Given the description of an element on the screen output the (x, y) to click on. 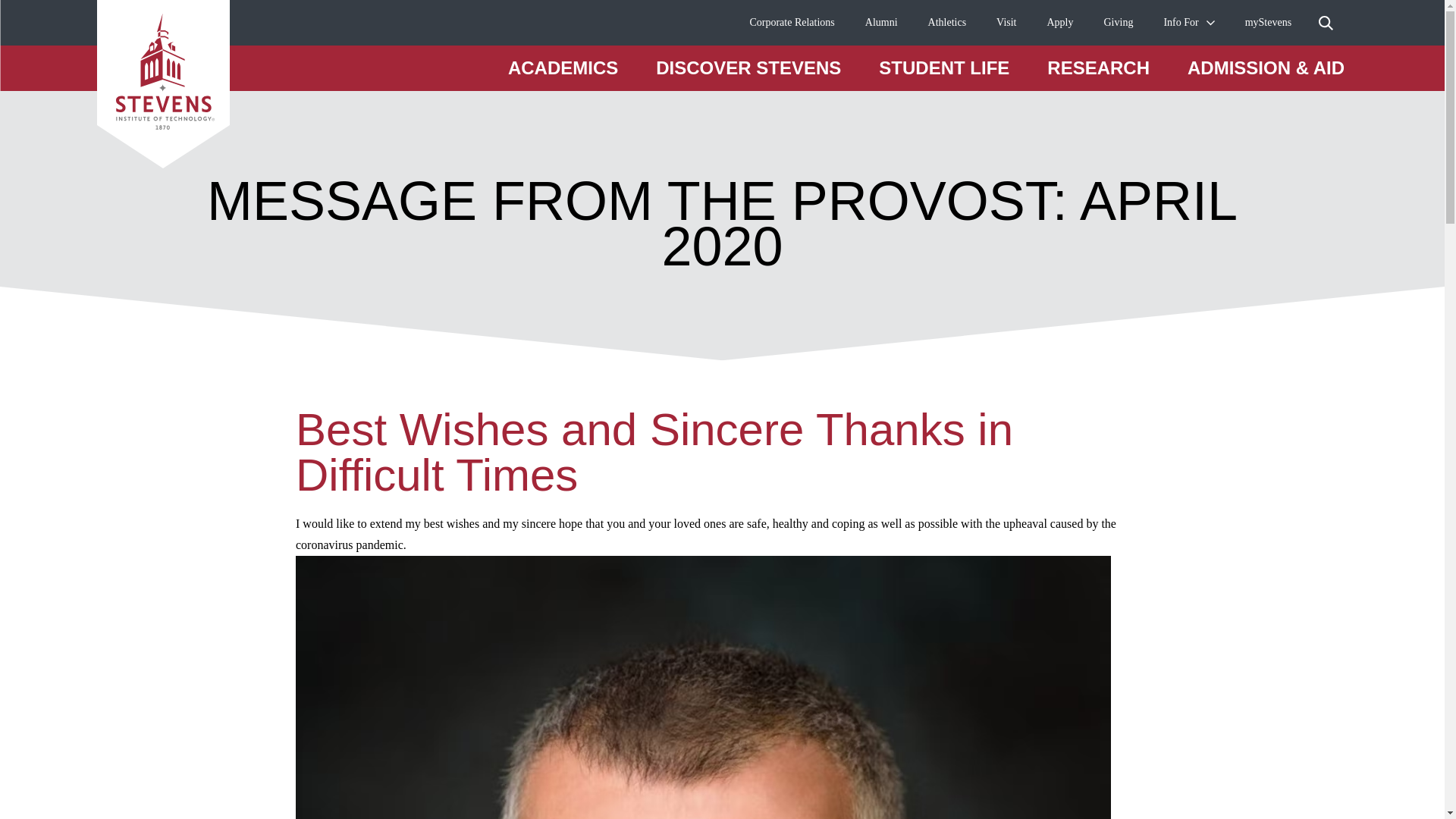
ACADEMICS (562, 67)
Athletics (947, 22)
Giving (1118, 22)
Alumni (881, 22)
Apply (1059, 22)
Info For (1180, 22)
myStevens (1267, 22)
Visit (1005, 22)
Corporate Relations (791, 22)
